Given the description of an element on the screen output the (x, y) to click on. 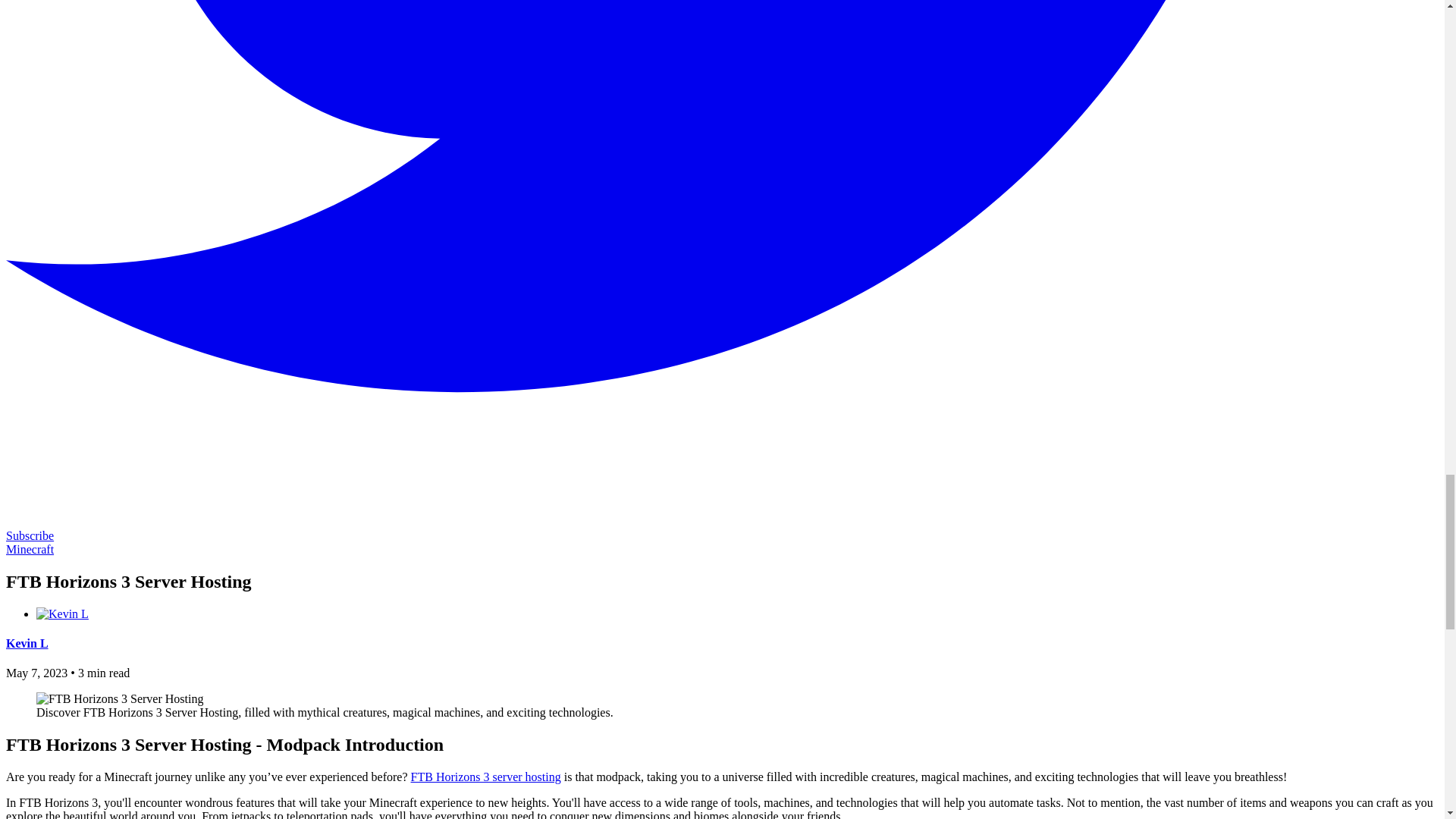
Minecraft (29, 549)
Kevin L (26, 643)
Subscribe (29, 535)
FTB Horizons 3 server hosting (485, 776)
